Given the description of an element on the screen output the (x, y) to click on. 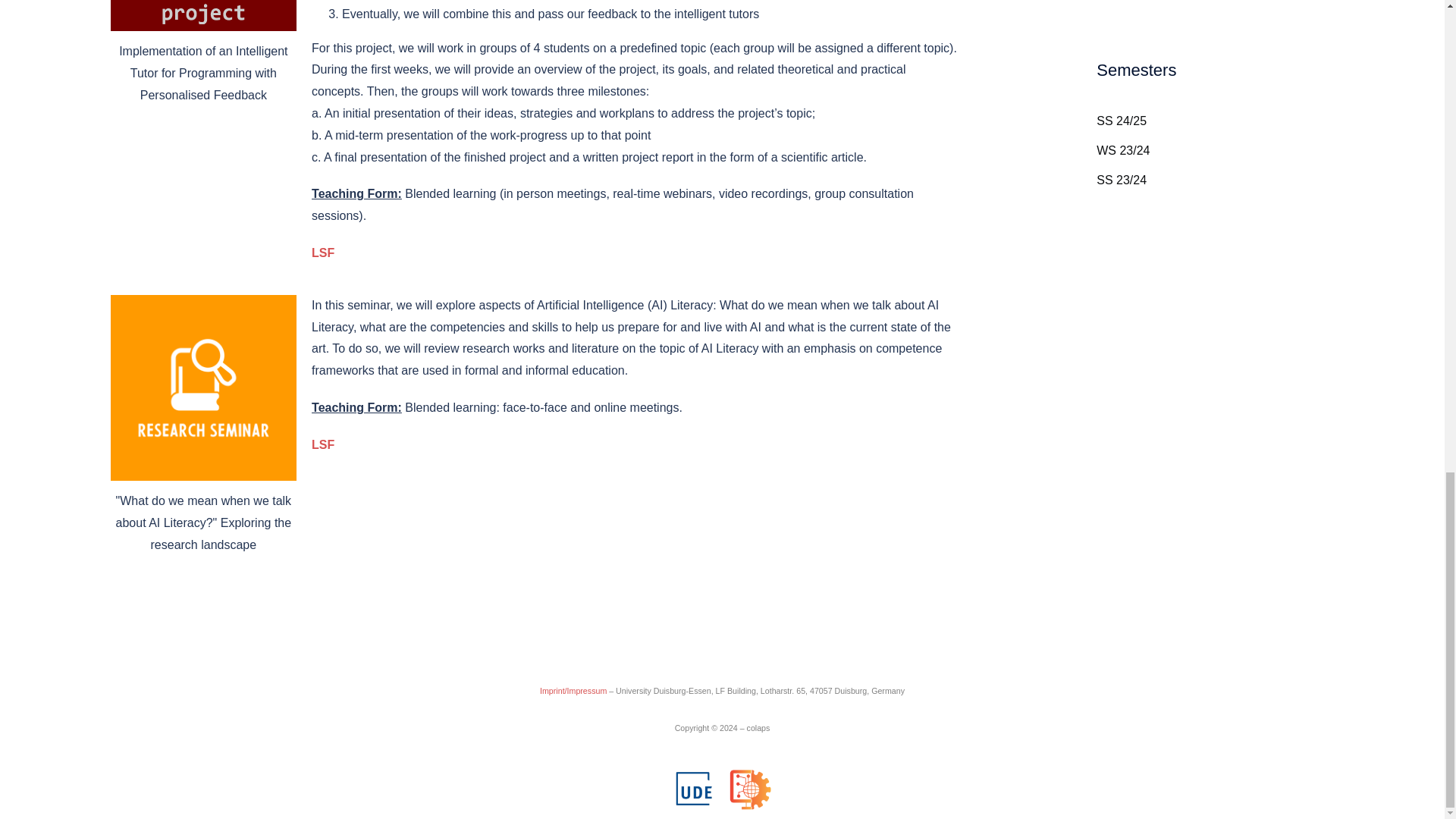
LSF (322, 252)
LSF (322, 444)
